Given the description of an element on the screen output the (x, y) to click on. 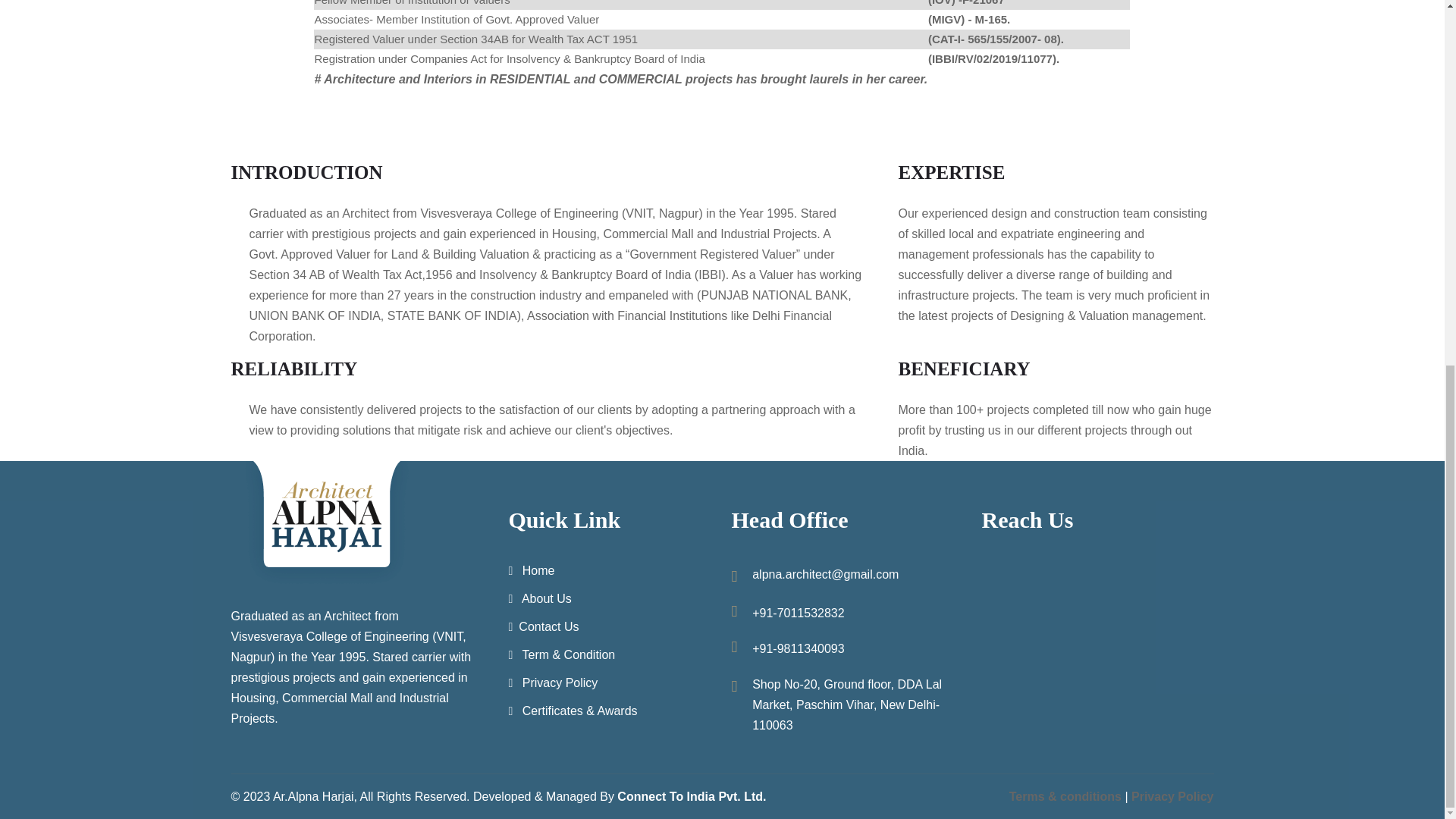
Contact Us (543, 626)
About Us (539, 598)
Privacy Policy (552, 682)
Home (531, 570)
